Given the description of an element on the screen output the (x, y) to click on. 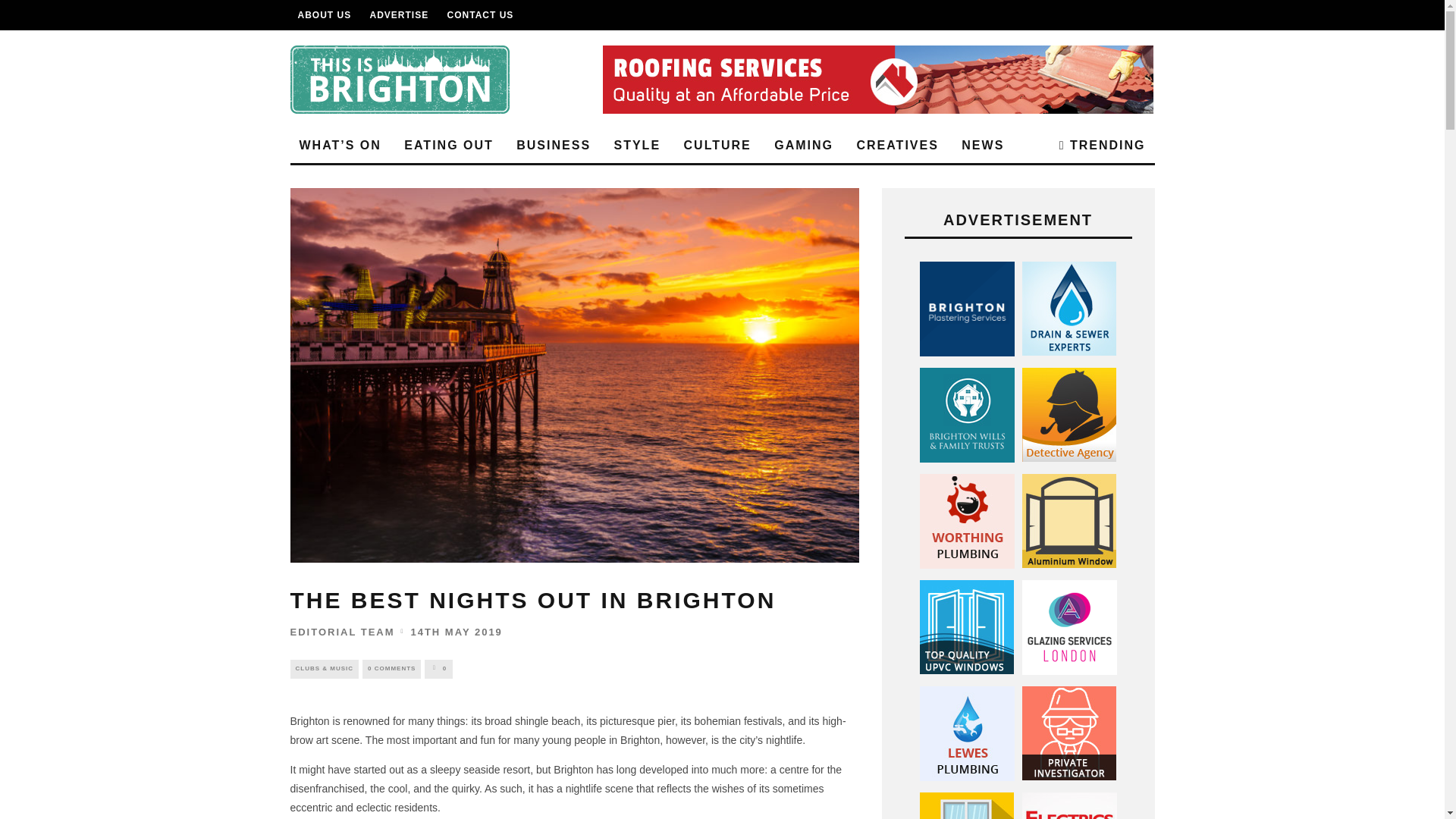
ADVERTISE (399, 15)
BUSINESS (552, 145)
CREATIVES (897, 145)
GAMING (804, 145)
TRENDING (1101, 145)
CONTACT US (479, 15)
STYLE (637, 145)
0 COMMENTS (391, 669)
ABOUT US (323, 15)
CULTURE (717, 145)
NEWS (982, 145)
EATING OUT (448, 145)
EDITORIAL TEAM (341, 632)
